Given the description of an element on the screen output the (x, y) to click on. 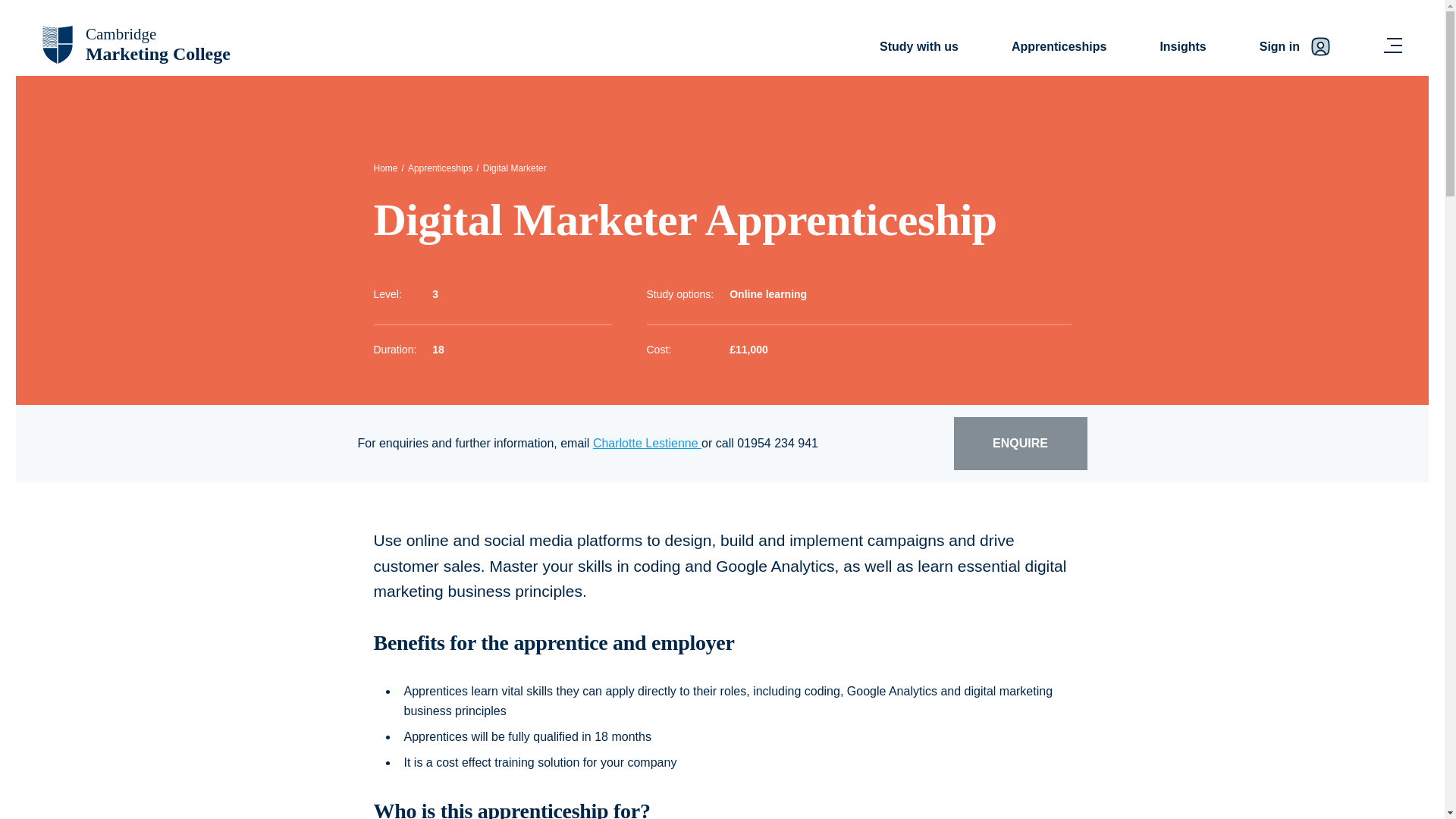
Home (384, 167)
Charlotte Lestienne (136, 43)
Apprenticeships (646, 442)
Digital Marketer (1058, 47)
Cambridge Marketing College (515, 167)
Insights (136, 43)
Enquire (1181, 47)
Apprenticeships (1020, 443)
Sign in (439, 167)
